Given the description of an element on the screen output the (x, y) to click on. 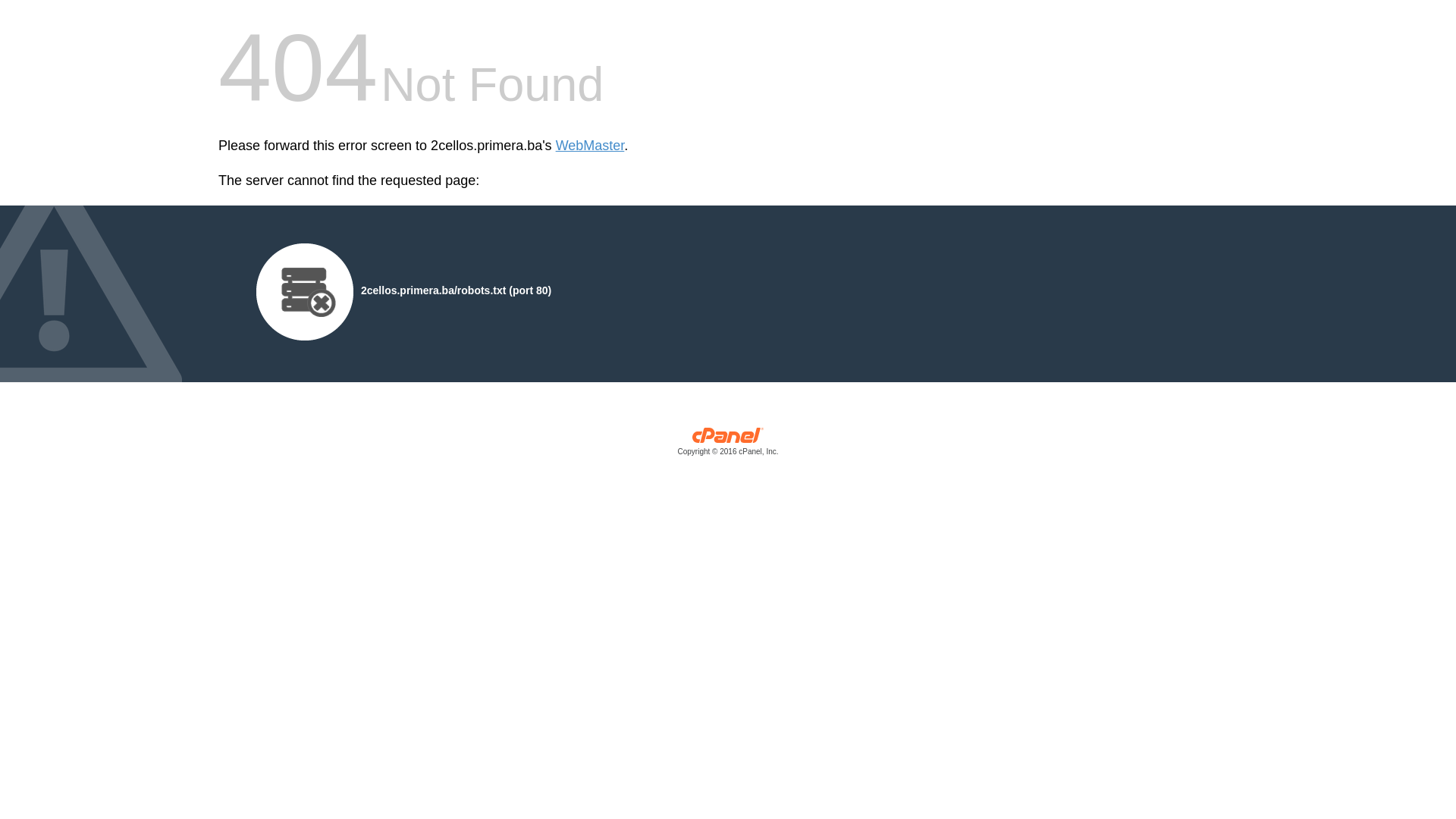
WebMaster Element type: text (589, 145)
